Given the description of an element on the screen output the (x, y) to click on. 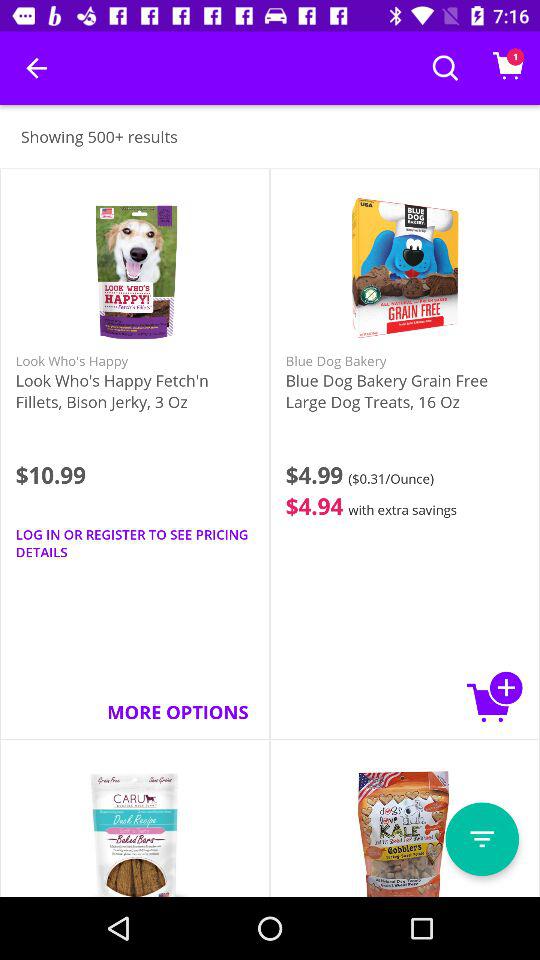
press icon to the right of the more options (495, 696)
